Given the description of an element on the screen output the (x, y) to click on. 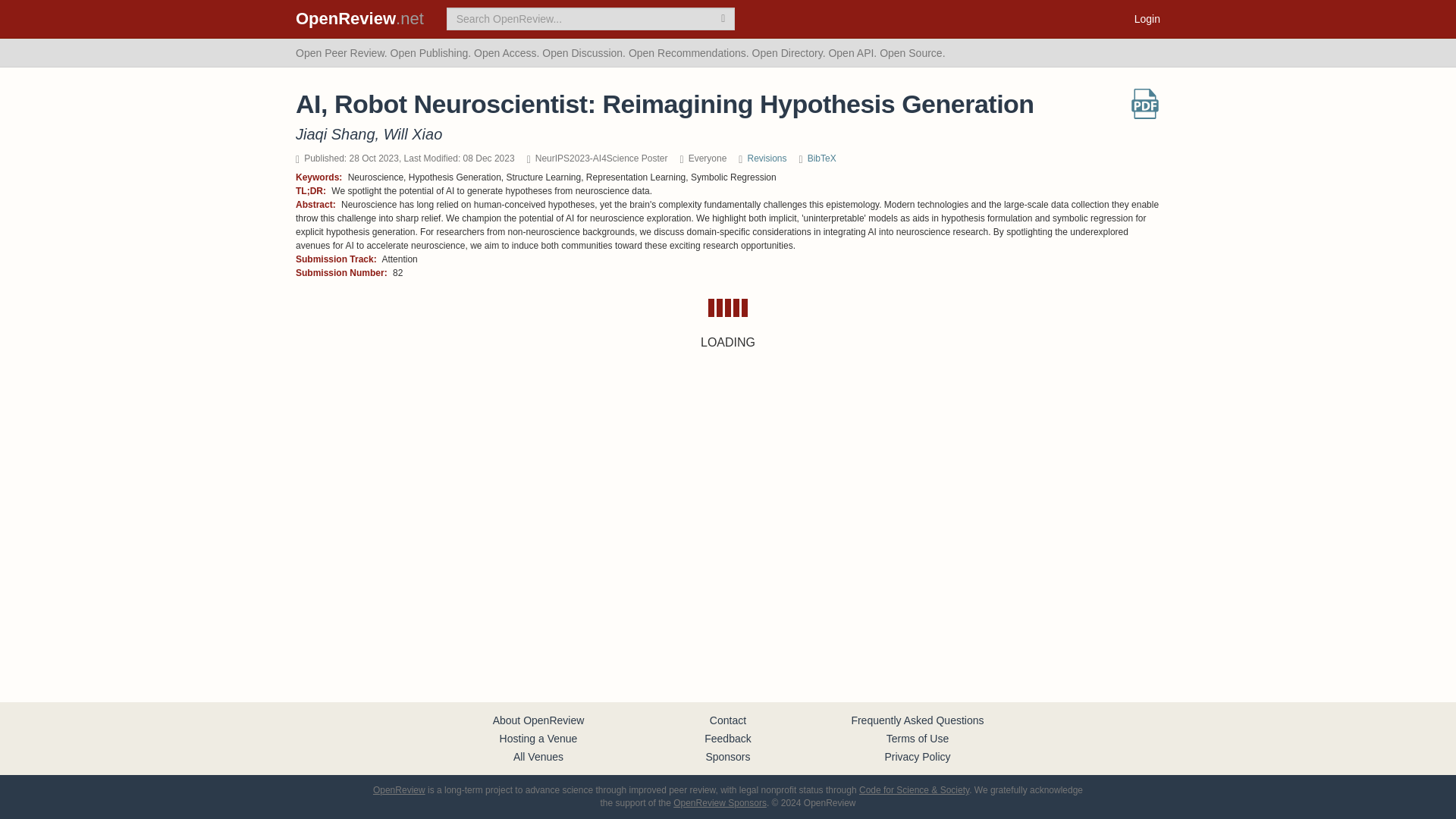
Privacy Policy (916, 756)
Feedback (727, 738)
BibTeX (821, 158)
Download PDF (1144, 103)
Terms of Use (917, 738)
Contact (727, 720)
Will Xiao (413, 134)
OpenReview Sponsors (719, 802)
OpenReview.net (359, 18)
Sponsors (726, 756)
Jiaqi Shang (335, 134)
Login (1147, 18)
OpenReview (398, 789)
All Venues (538, 756)
Revisions (766, 158)
